Given the description of an element on the screen output the (x, y) to click on. 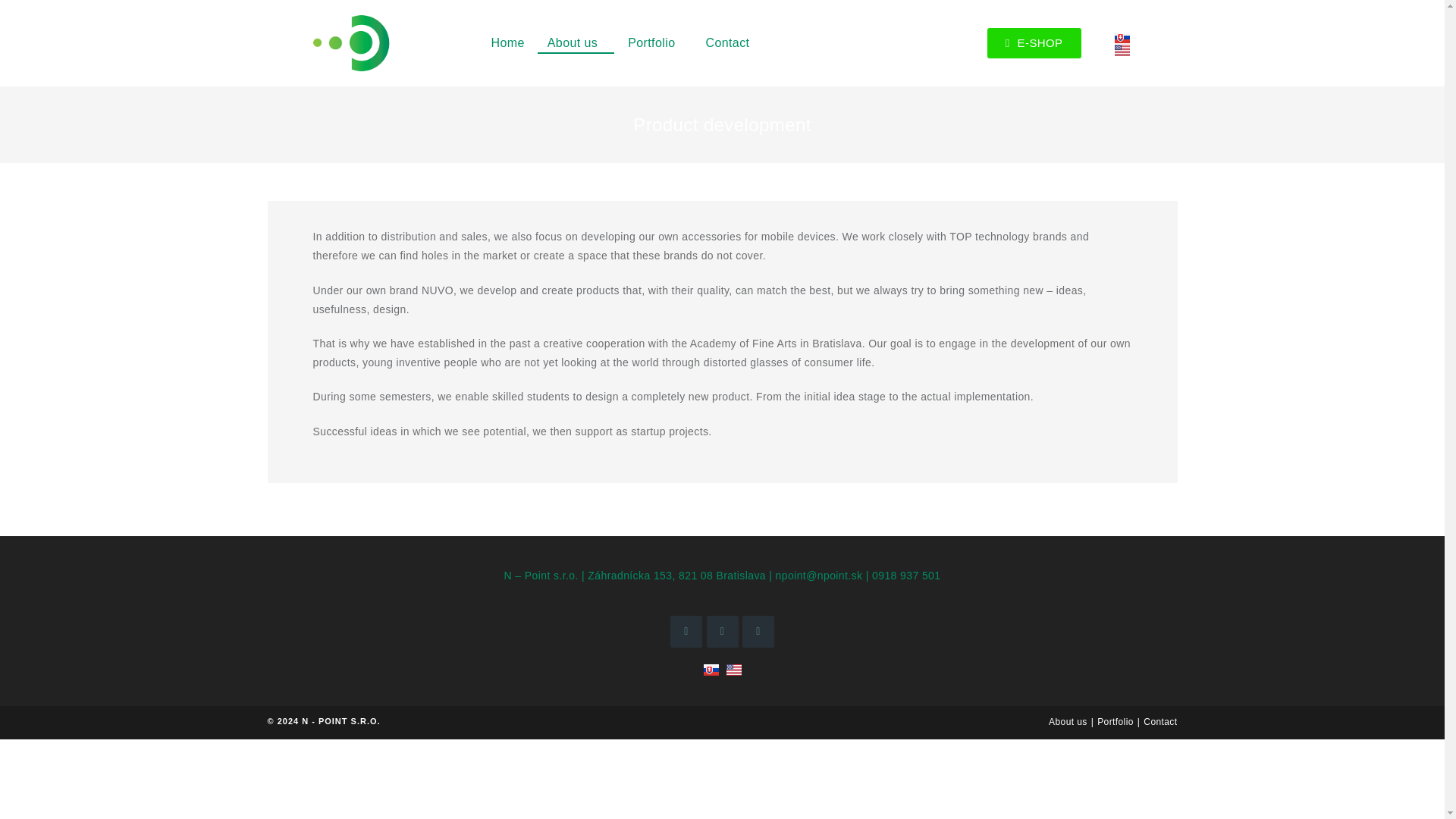
Contact (727, 42)
About us (575, 42)
Contact (1159, 721)
Home (507, 42)
Portfolio (654, 42)
E-SHOP (1034, 42)
Portfolio (1115, 721)
About us (1067, 721)
N - POINT S.R.O. (340, 720)
